Given the description of an element on the screen output the (x, y) to click on. 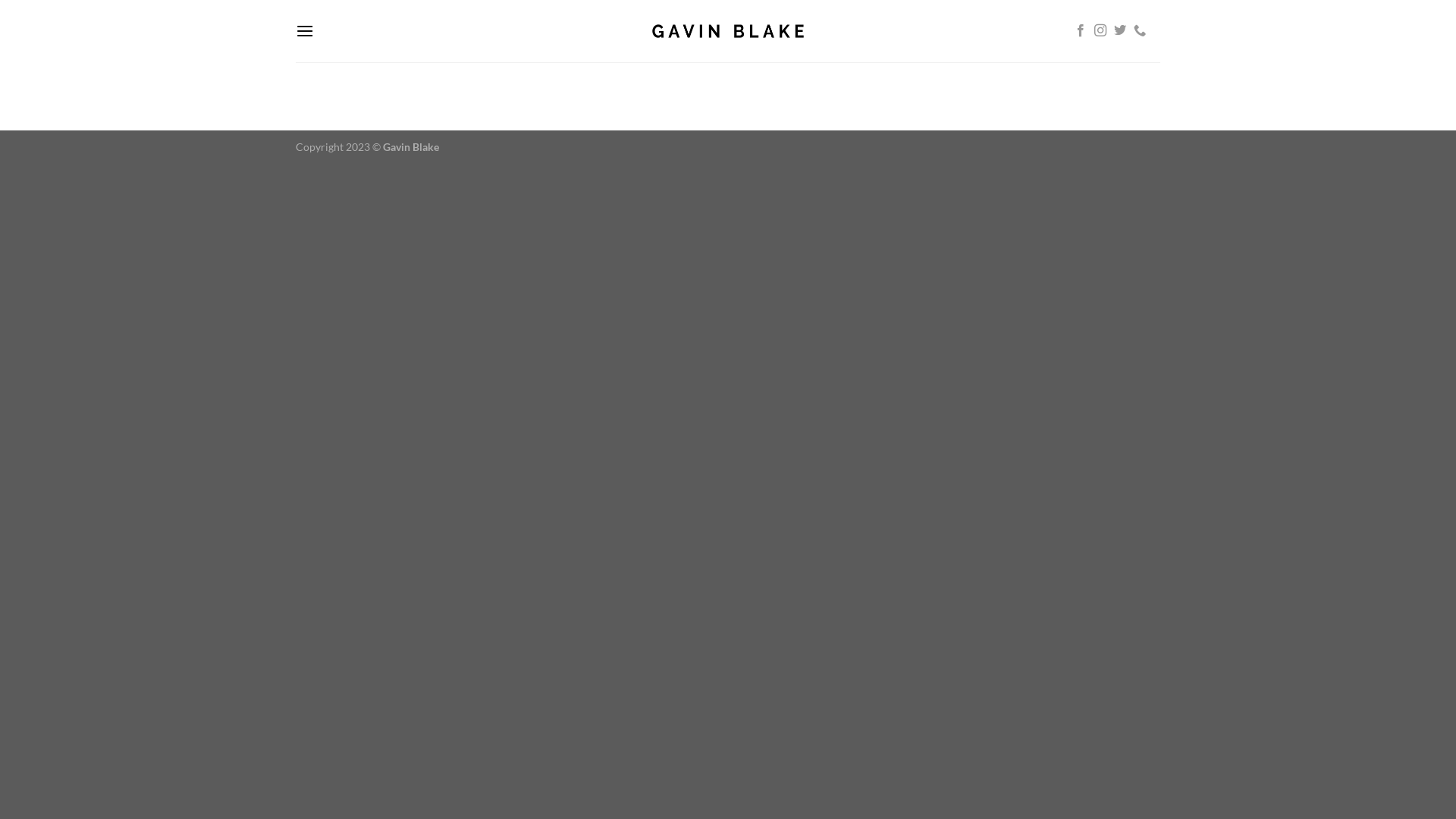
Gavin Blake - Visual Scribe Element type: hover (727, 30)
